Given the description of an element on the screen output the (x, y) to click on. 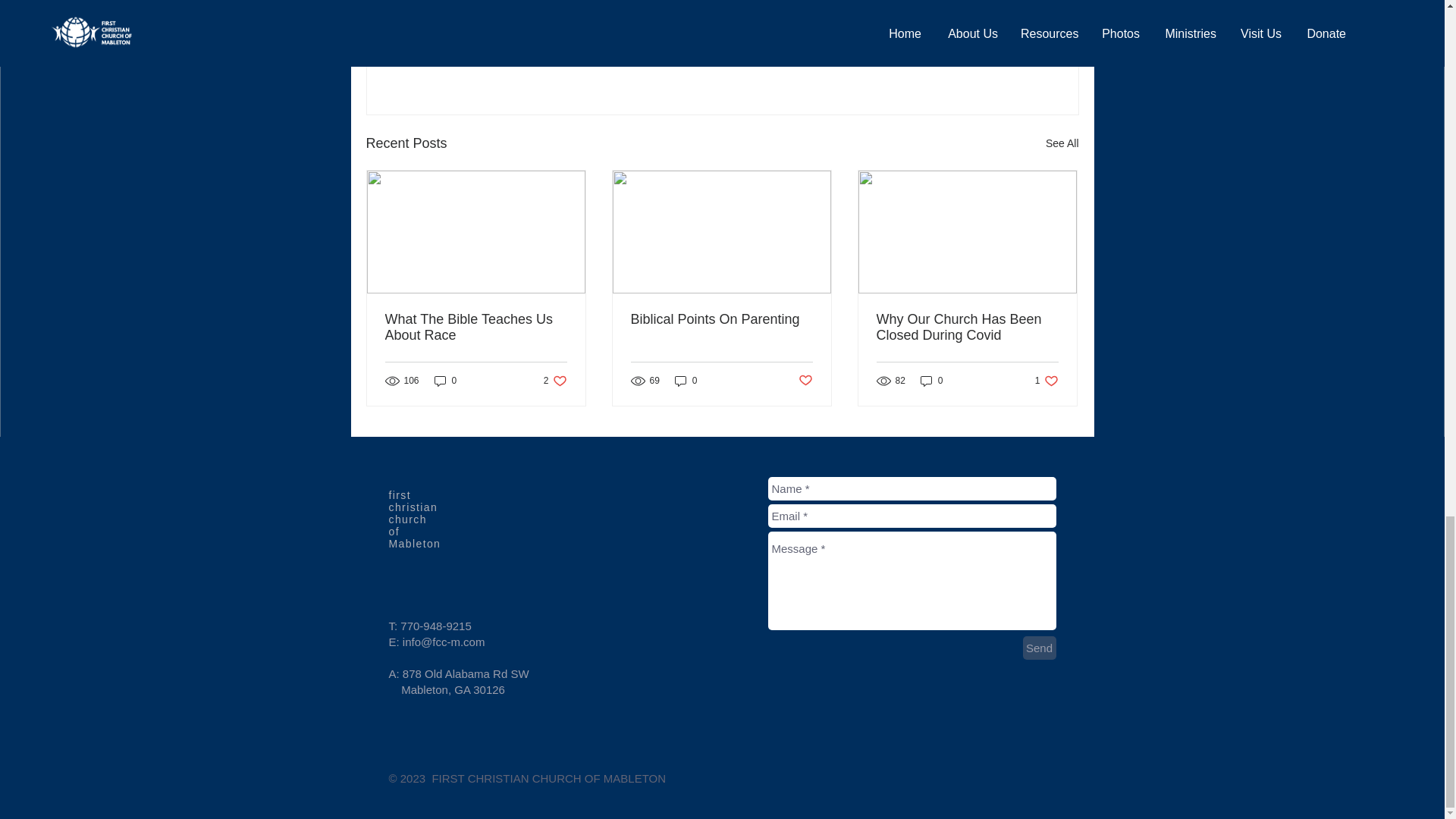
Why Our Church Has Been Closed During Covid (967, 327)
0 (685, 380)
See All (1061, 143)
Post not marked as liked (804, 381)
Biblical Points On Parenting (555, 380)
0 (721, 319)
What The Bible Teaches Us About Race (931, 380)
Post not marked as liked (476, 327)
0 (995, 60)
Send (445, 380)
